Given the description of an element on the screen output the (x, y) to click on. 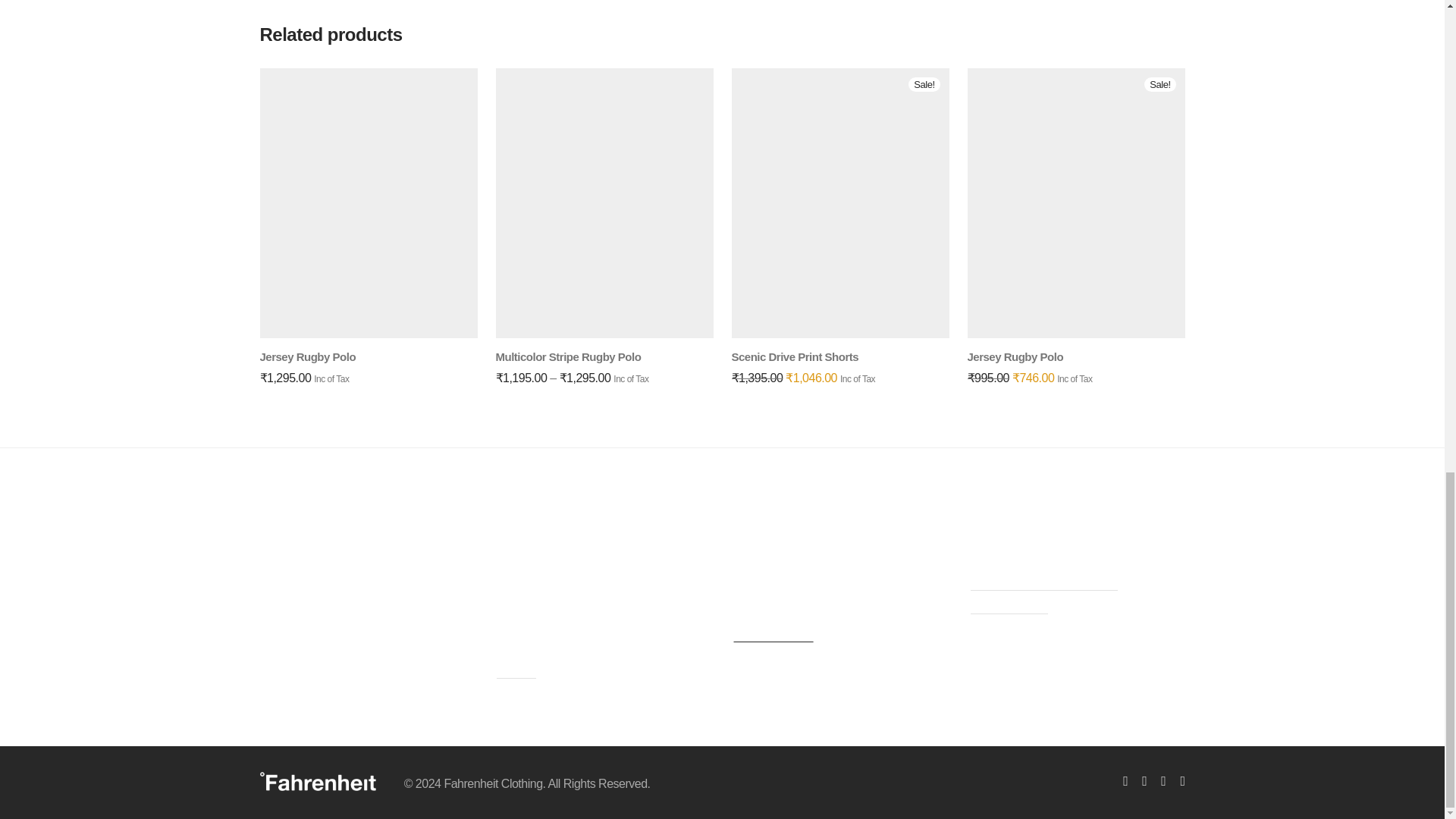
Shop (515, 669)
